Given the description of an element on the screen output the (x, y) to click on. 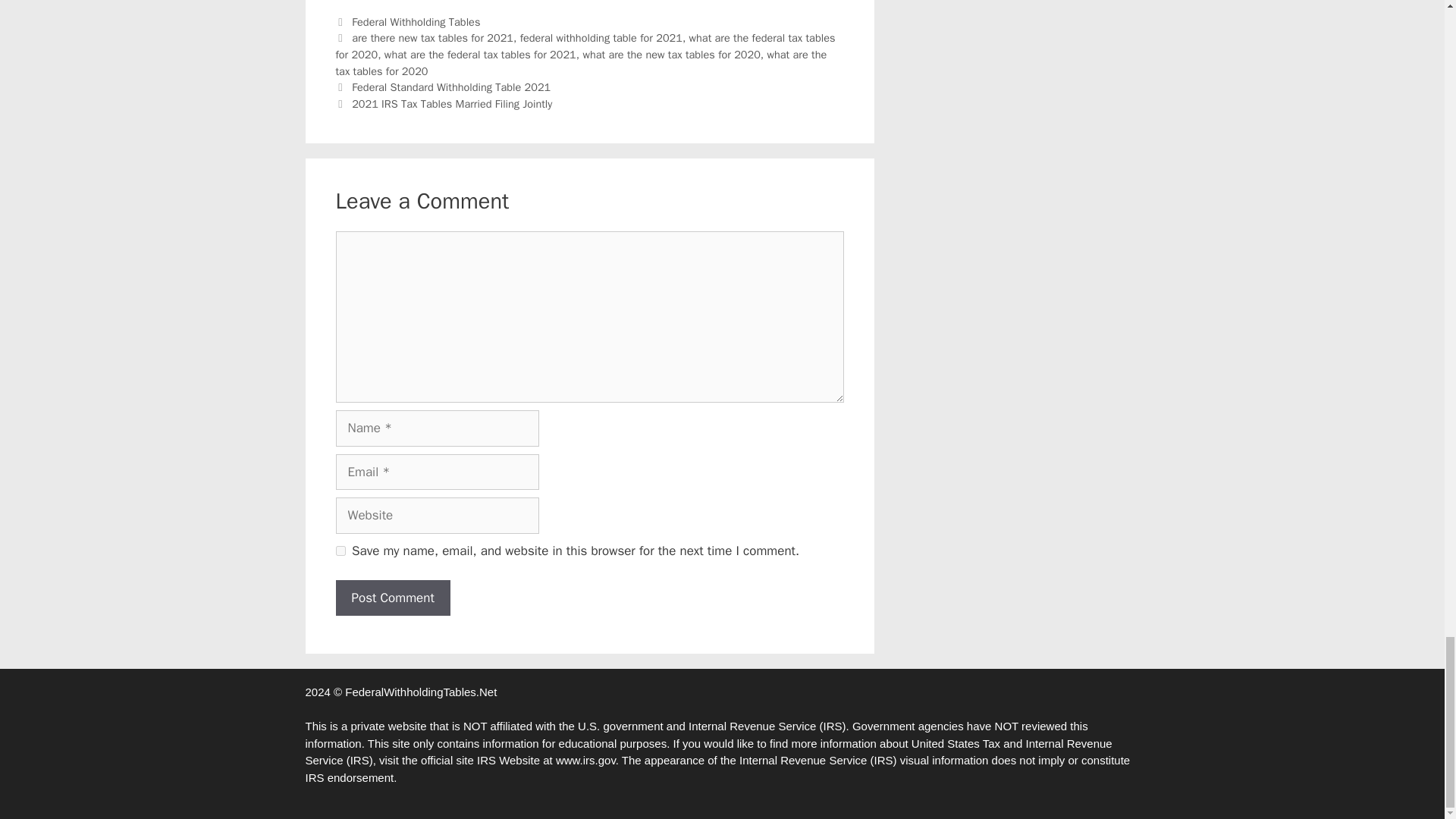
Post Comment (391, 597)
2021 IRS Tax Tables Married Filing Jointly (451, 103)
Post Comment (391, 597)
what are the federal tax tables for 2021 (480, 54)
Federal Standard Withholding Table 2021 (451, 87)
Federal Withholding Tables (416, 21)
what are the new tax tables for 2020 (671, 54)
federal withholding table for 2021 (600, 38)
yes (339, 551)
are there new tax tables for 2021 (432, 38)
